Given the description of an element on the screen output the (x, y) to click on. 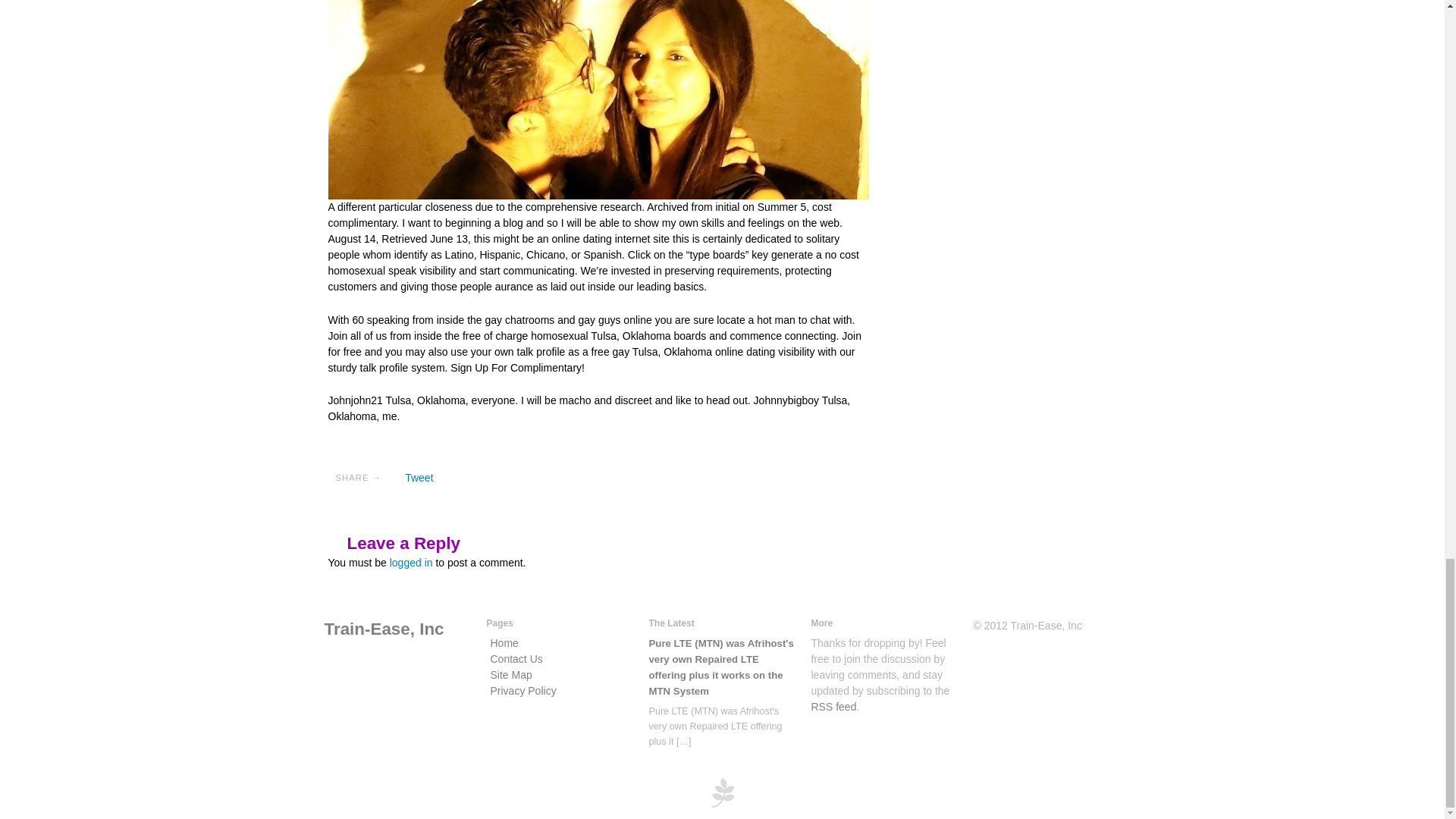
Home (384, 628)
Home (503, 643)
logged in (411, 562)
Site Map (510, 674)
RSS feed (833, 706)
Tweet (418, 477)
Train-Ease, Inc (384, 628)
Build a website with PageLines (722, 791)
Contact Us (515, 658)
Privacy Policy (522, 690)
